Given the description of an element on the screen output the (x, y) to click on. 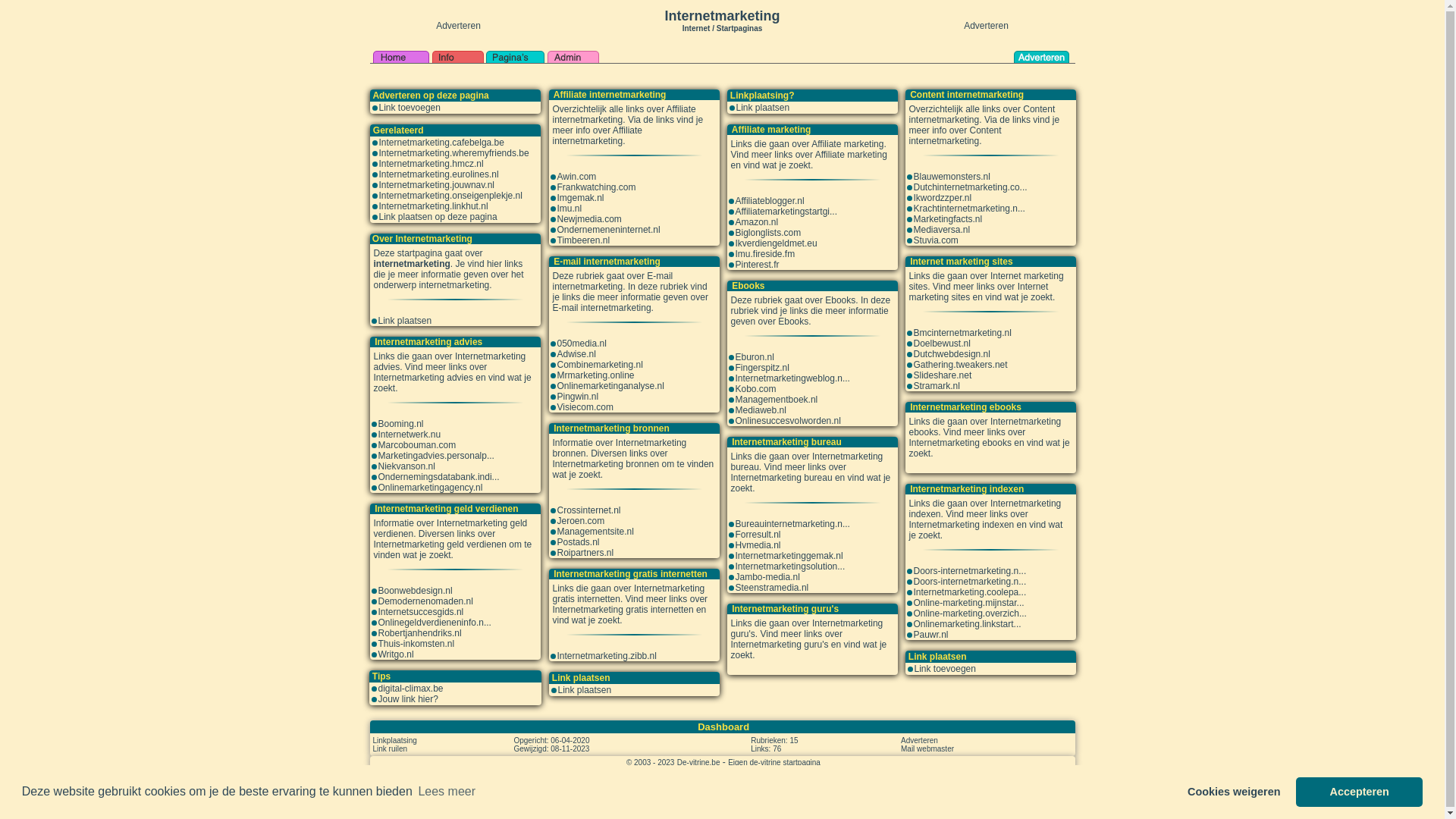
Internetmarketing Element type: text (721, 15)
Link toevoegen Element type: text (944, 668)
Internetmarketing.jouwnav.nl Element type: text (437, 184)
Adwise.nl Element type: text (575, 353)
Eburon.nl Element type: text (754, 356)
Dutchwebdesign.nl Element type: text (951, 353)
Boonwebdesign.nl Element type: text (414, 590)
Online-marketing.overzich... Element type: text (969, 613)
Blauwemonsters.nl Element type: text (951, 176)
Internetmarketing.linkhut.nl Element type: text (433, 205)
Jouw link hier? Element type: text (407, 698)
Adverteren Element type: text (985, 25)
Managementboek.nl Element type: text (776, 399)
Kobo.com Element type: text (755, 388)
Pinterest.fr Element type: text (757, 264)
Writgo.nl Element type: text (395, 654)
Doors-internetmarketing.n... Element type: text (969, 570)
Imgemak.nl Element type: text (579, 197)
Internetmarketing.onseigenplekje.nl Element type: text (450, 195)
Link plaatsen op deze pagina Element type: text (438, 216)
Onlinemarketingagency.nl Element type: text (429, 487)
Bmcinternetmarketing.nl Element type: text (961, 332)
Pingwin.nl Element type: text (577, 396)
Crossinternet.nl Element type: text (588, 510)
Biglonglists.com Element type: text (768, 232)
Onlinesuccesvolworden.nl Element type: text (787, 420)
Slideshare.net Element type: text (942, 375)
Linkplaatsing Element type: text (395, 739)
Internetmarketing.wheremyfriends.be Element type: text (454, 152)
Doors-internetmarketing.n... Element type: text (969, 581)
Internetmarketing.zibb.nl Element type: text (605, 655)
Pauwr.nl Element type: text (930, 634)
Eigen de-vitrine startpagina Element type: text (774, 761)
Link ruilen Element type: text (390, 748)
Mediaweb.nl Element type: text (760, 409)
Internetsuccesgids.nl Element type: text (420, 611)
Mrmarketing.online Element type: text (594, 375)
Bureauinternetmarketing.n... Element type: text (792, 523)
Link plaatsen Element type: text (762, 107)
Link plaatsen Element type: text (584, 689)
Accepteren Element type: text (1358, 791)
Internetmarketingweblog.n... Element type: text (792, 378)
Marketingadvies.personalp... Element type: text (435, 455)
Niekvanson.nl Element type: text (405, 466)
Lees meer Element type: text (446, 791)
Online-marketing.mijnstar... Element type: text (968, 602)
Jambo-media.nl Element type: text (767, 576)
Marketingfacts.nl Element type: text (947, 218)
Link plaatsen Element type: text (404, 320)
Imu.fireside.fm Element type: text (765, 253)
Booming.nl Element type: text (400, 423)
De-vitrine.be Element type: text (698, 761)
Gathering.tweakers.net Element type: text (960, 364)
050media.nl Element type: text (580, 343)
Ikverdiengeldmet.eu Element type: text (776, 243)
Imu.nl Element type: text (568, 208)
Startpaginas Element type: text (739, 28)
Ikwordzzper.nl Element type: text (942, 197)
digital-climax.be Element type: text (409, 688)
Affiliateblogger.nl Element type: text (769, 200)
Internetmarketingsolution... Element type: text (790, 566)
Fingerspitz.nl Element type: text (762, 367)
Amazon.nl Element type: text (756, 221)
Internetmarketinggemak.nl Element type: text (789, 555)
Newjmedia.com Element type: text (588, 218)
Mail webmaster Element type: text (926, 748)
Internetwerk.nu Element type: text (408, 434)
Onlinemarketinganalyse.nl Element type: text (609, 385)
Doelbewust.nl Element type: text (941, 343)
Dutchinternetmarketing.co... Element type: text (969, 187)
Adverteren Element type: text (458, 25)
Demodernenomaden.nl Element type: text (424, 601)
Internetmarketing.coolepa... Element type: text (969, 591)
Ondernemingsdatabank.indi... Element type: text (437, 476)
Internetmarketing.hmcz.nl Element type: text (431, 163)
Internetmarketing.cafebelga.be Element type: text (441, 142)
Postads.nl Element type: text (577, 541)
Mediaversa.nl Element type: text (941, 229)
Link toevoegen Element type: text (409, 107)
Krachtinternetmarketing.n... Element type: text (968, 208)
Hvmedia.nl Element type: text (758, 544)
Cookies weigeren Element type: text (1233, 791)
Thuis-inkomsten.nl Element type: text (415, 643)
Roipartners.nl Element type: text (584, 552)
Frankwatching.com Element type: text (595, 187)
Affiliatemarketingstartgi... Element type: text (786, 211)
Managementsite.nl Element type: text (594, 531)
Marcobouman.com Element type: text (416, 444)
Internetmarketing.eurolines.nl Element type: text (438, 174)
Internet Element type: text (696, 26)
Timbeeren.nl Element type: text (582, 240)
Onlinegeldverdieneninfo.n... Element type: text (433, 622)
Stuvia.com Element type: text (935, 240)
Visiecom.com Element type: text (584, 406)
Awin.com Element type: text (576, 176)
Steenstramedia.nl Element type: text (772, 587)
Onlinemarketing.linkstart... Element type: text (966, 623)
Ondernemeneninternet.nl Element type: text (607, 229)
Adverteren Element type: text (919, 739)
Jeroen.com Element type: text (580, 520)
Forresult.nl Element type: text (758, 534)
Robertjanhendriks.nl Element type: text (419, 632)
Stramark.nl Element type: text (936, 385)
Combinemarketing.nl Element type: text (599, 364)
